Given the description of an element on the screen output the (x, y) to click on. 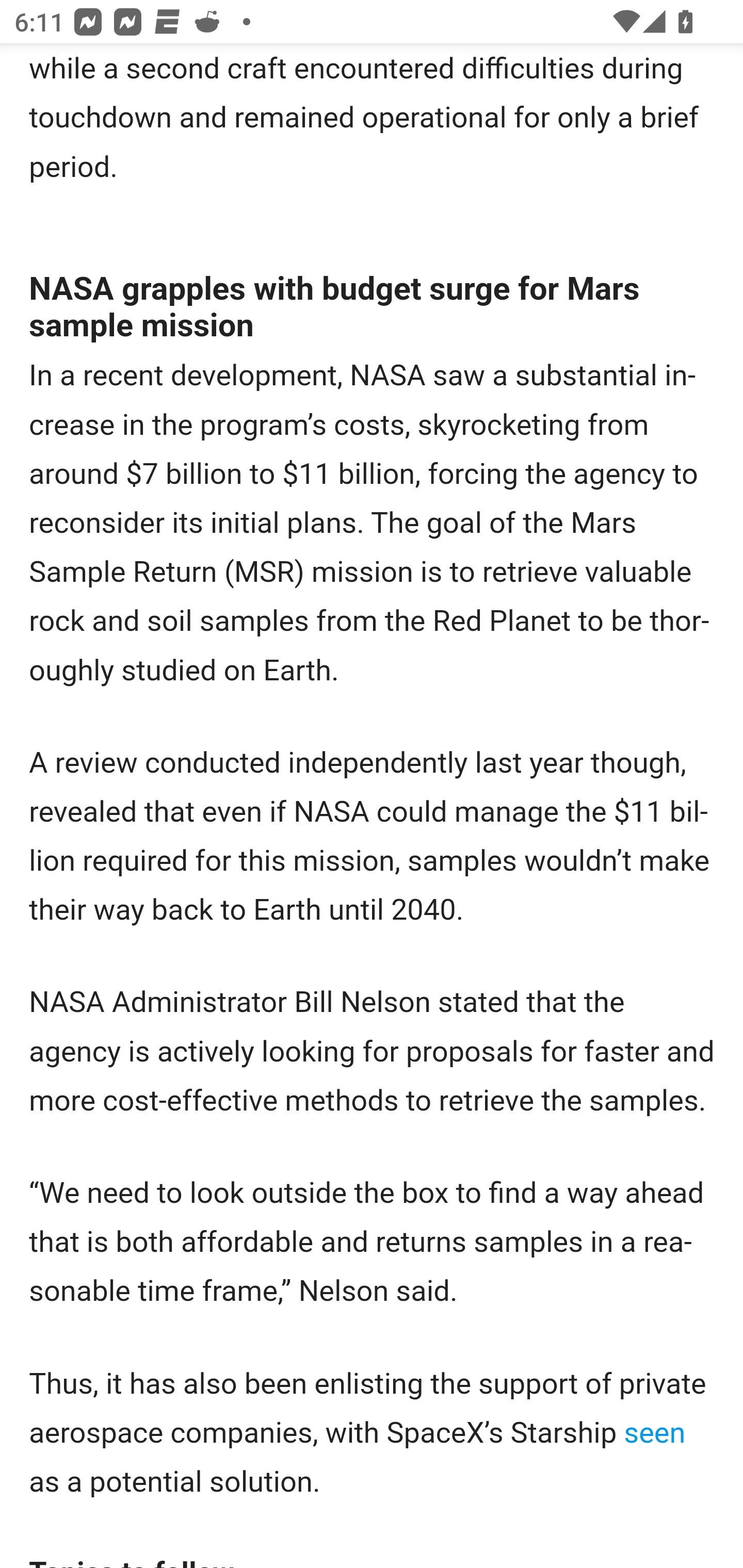
seen (654, 1432)
